Given the description of an element on the screen output the (x, y) to click on. 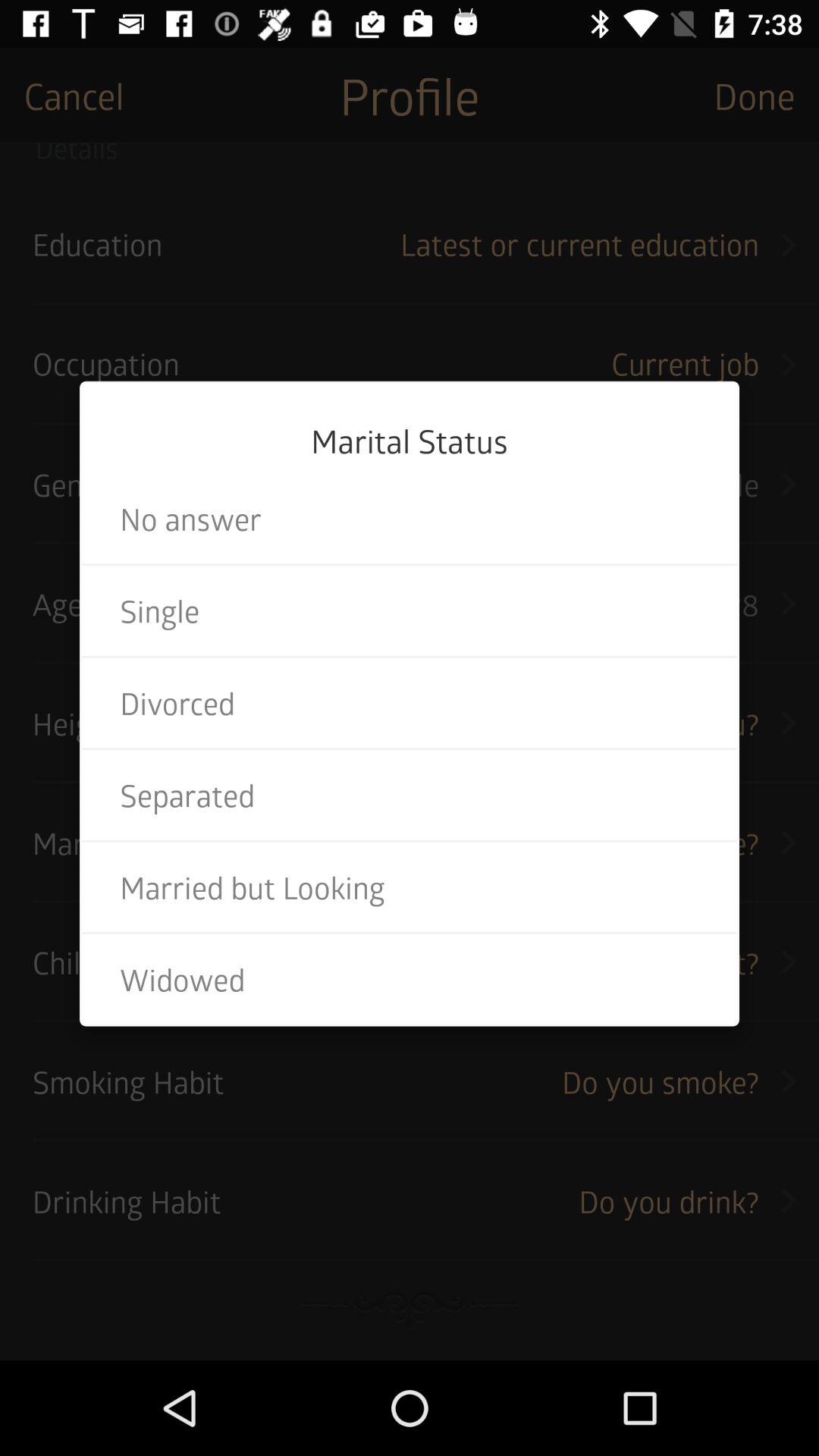
flip to single (409, 610)
